Given the description of an element on the screen output the (x, y) to click on. 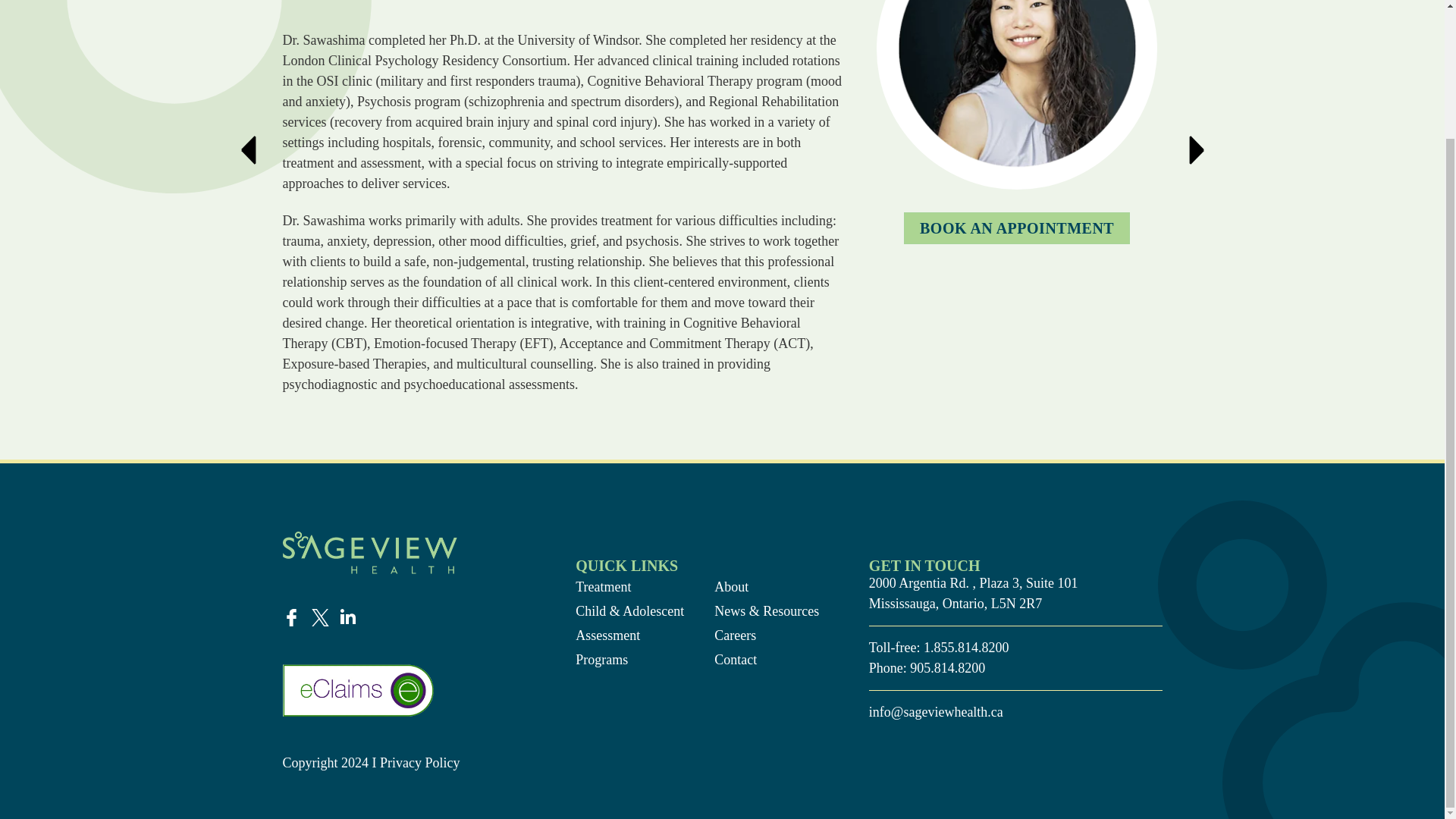
About (768, 587)
Careers (768, 635)
Privacy Policy  (421, 762)
Contact (768, 660)
Programs (629, 660)
905.814.8200 (947, 667)
1.855.814.8200 (966, 647)
Treatment (629, 587)
Assessment (629, 635)
Submit (439, 403)
